Given the description of an element on the screen output the (x, y) to click on. 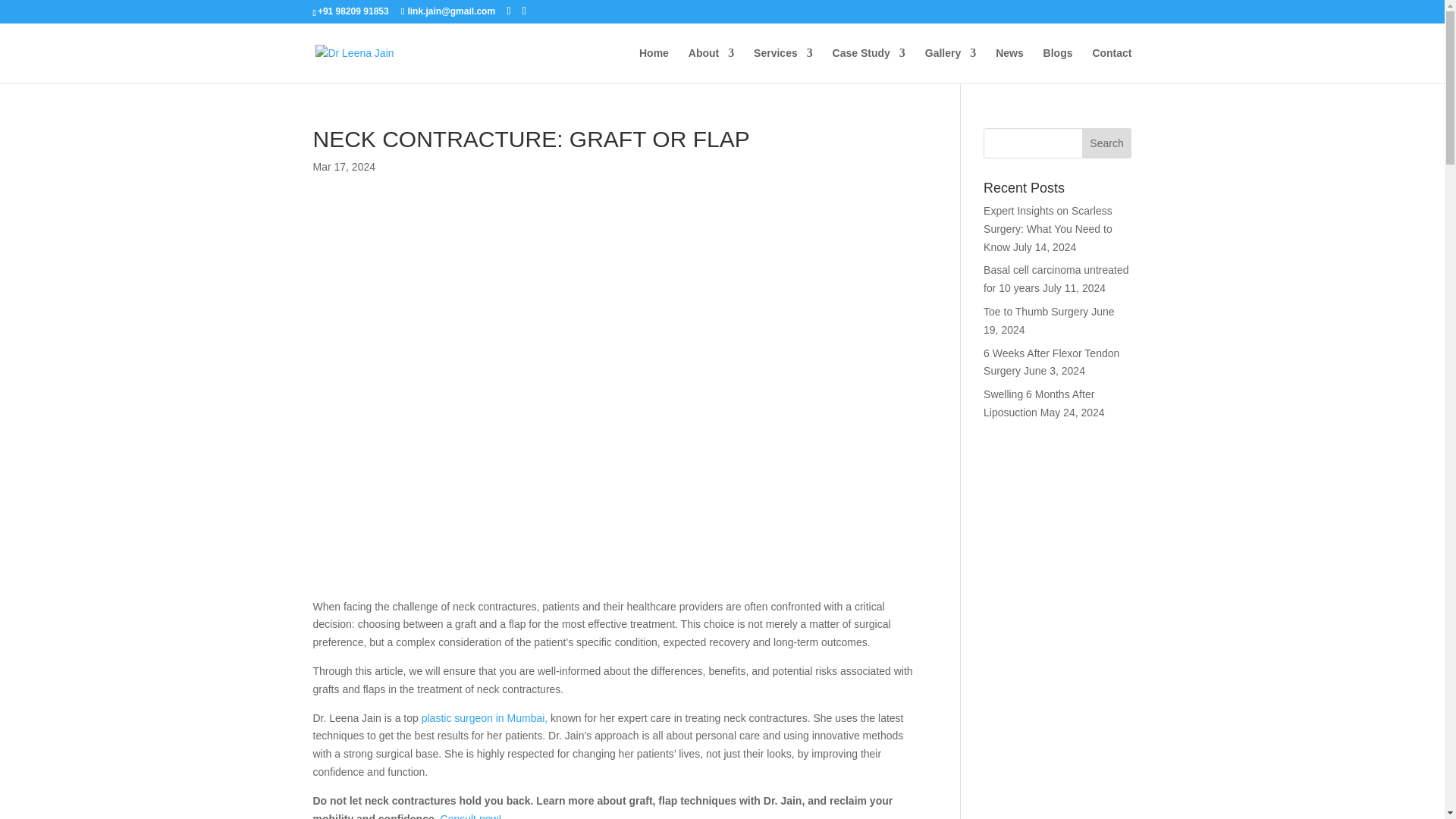
Case Study (868, 65)
About (710, 65)
Gallery (949, 65)
Services (783, 65)
Home (653, 65)
News (1009, 65)
Search (1106, 142)
